Given the description of an element on the screen output the (x, y) to click on. 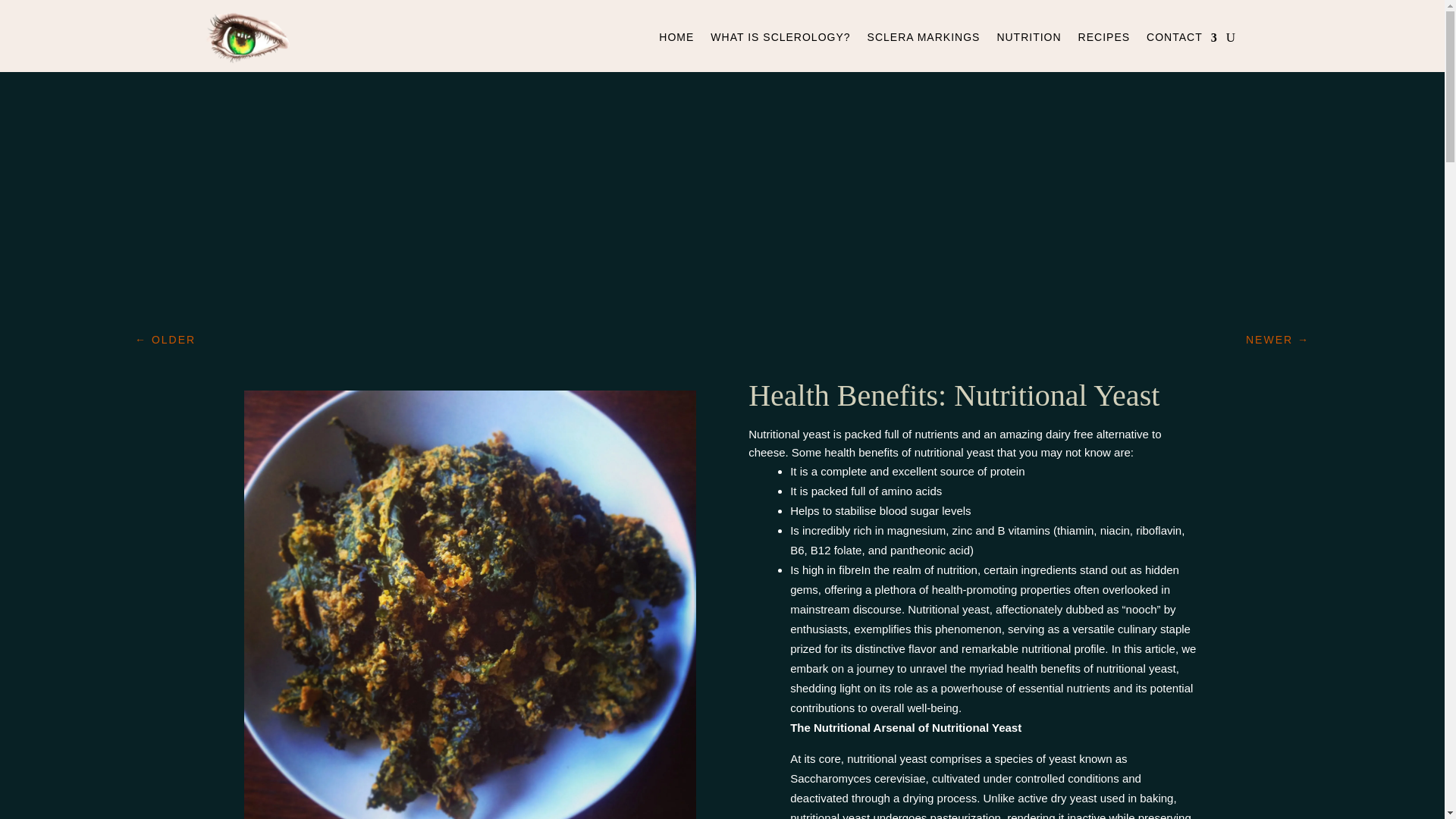
WHAT IS SCLEROLOGY? (780, 40)
NUTRITION (1028, 40)
SCLERA MARKINGS (923, 40)
Photo splashbacks-3 (247, 36)
CONTACT (1182, 40)
HOME (676, 40)
RECIPES (1103, 40)
